Given the description of an element on the screen output the (x, y) to click on. 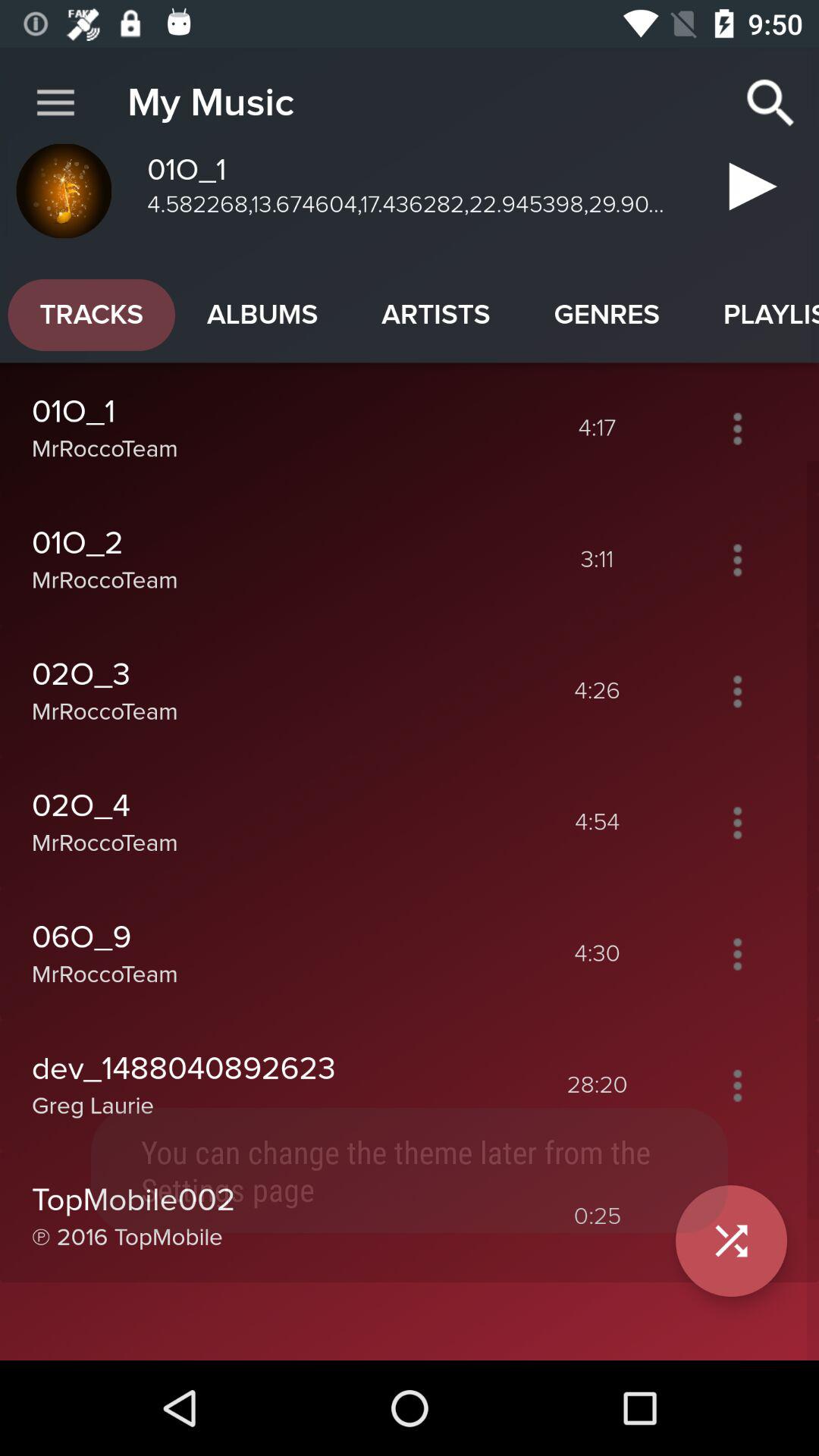
more options (737, 691)
